Given the description of an element on the screen output the (x, y) to click on. 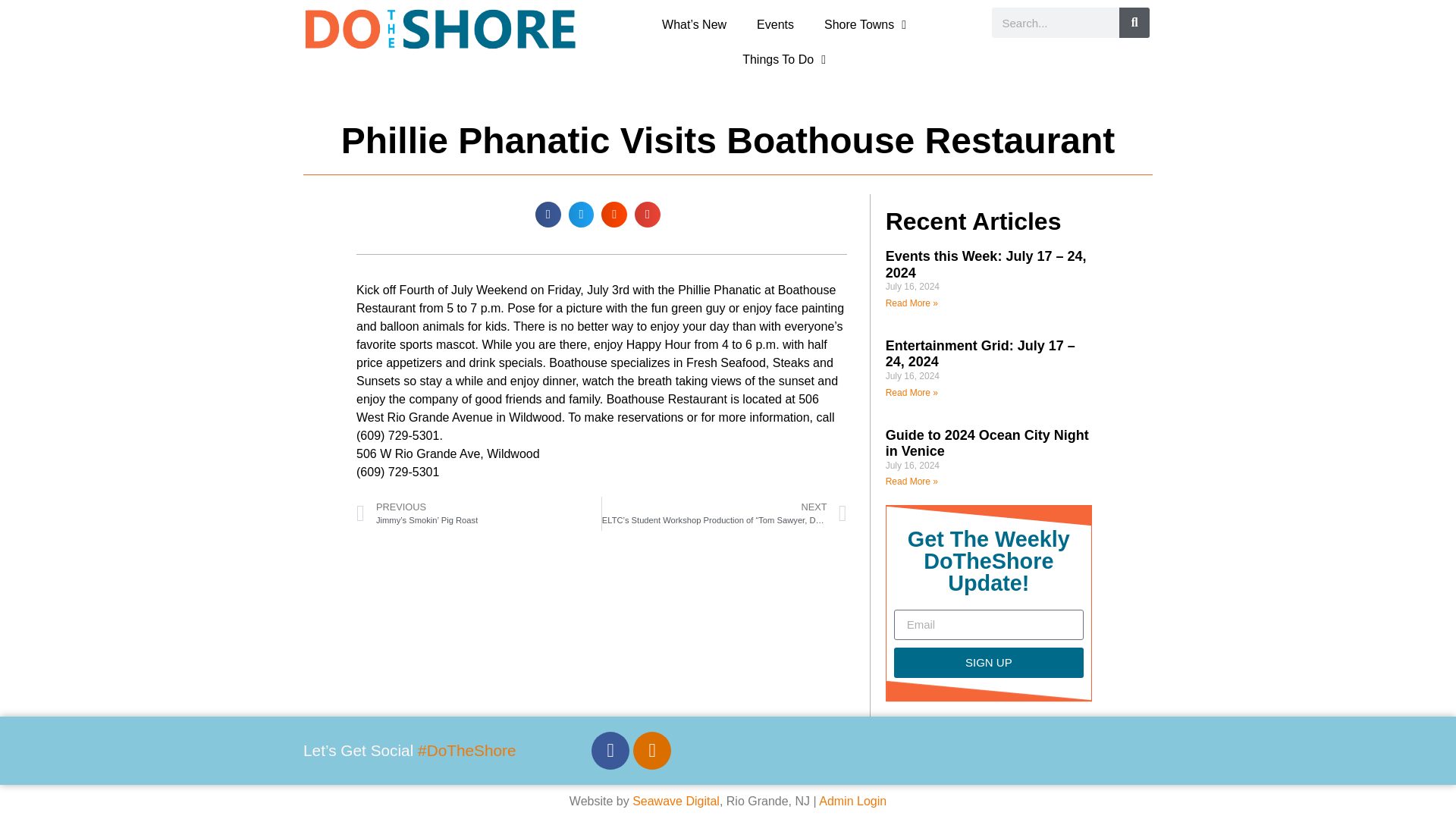
Events (775, 24)
Things To Do (783, 59)
Shore Towns (865, 24)
